Given the description of an element on the screen output the (x, y) to click on. 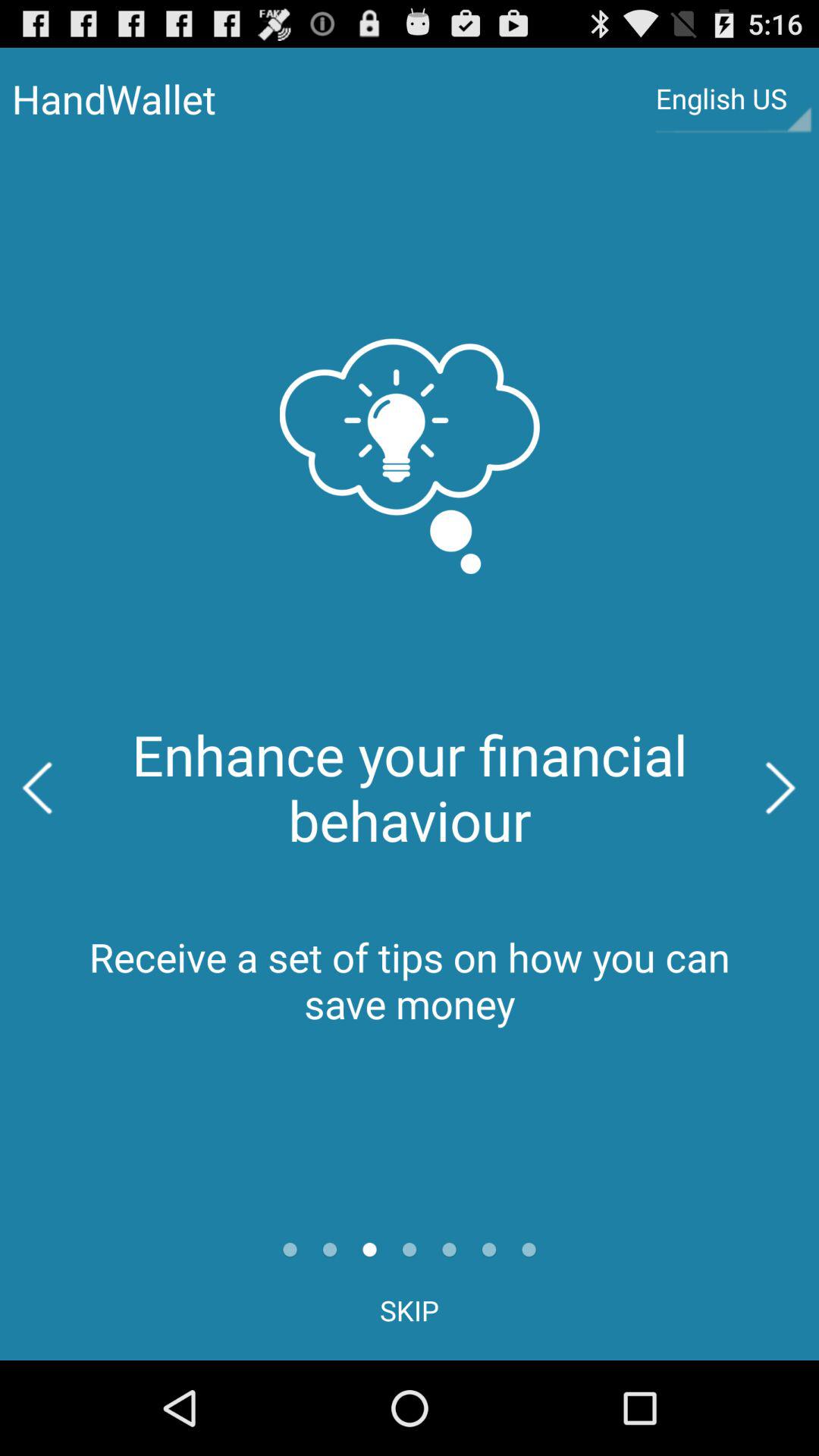
tap the icon above the receive a set (37, 787)
